Given the description of an element on the screen output the (x, y) to click on. 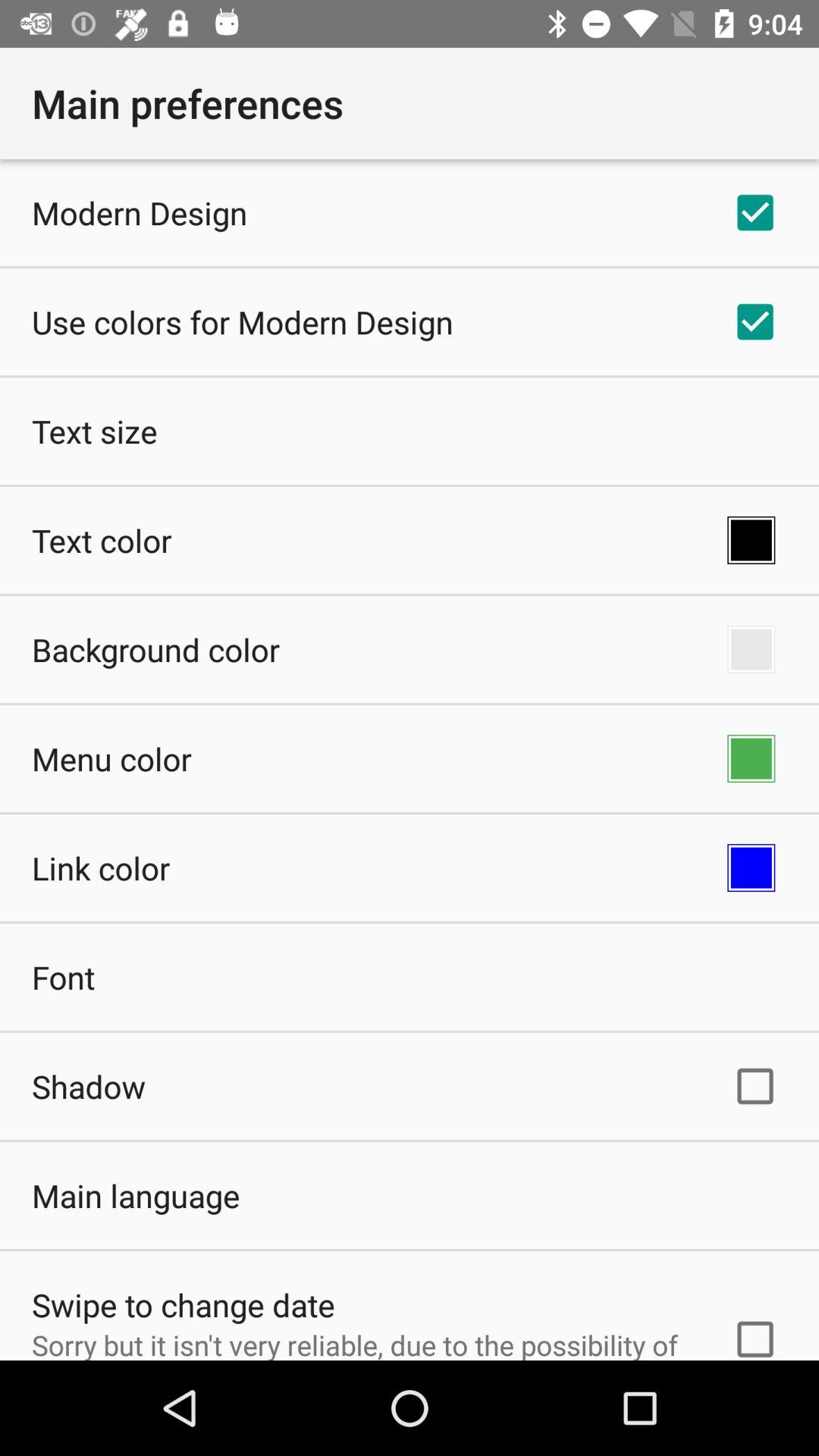
turn off icon above sorry but it (182, 1304)
